Given the description of an element on the screen output the (x, y) to click on. 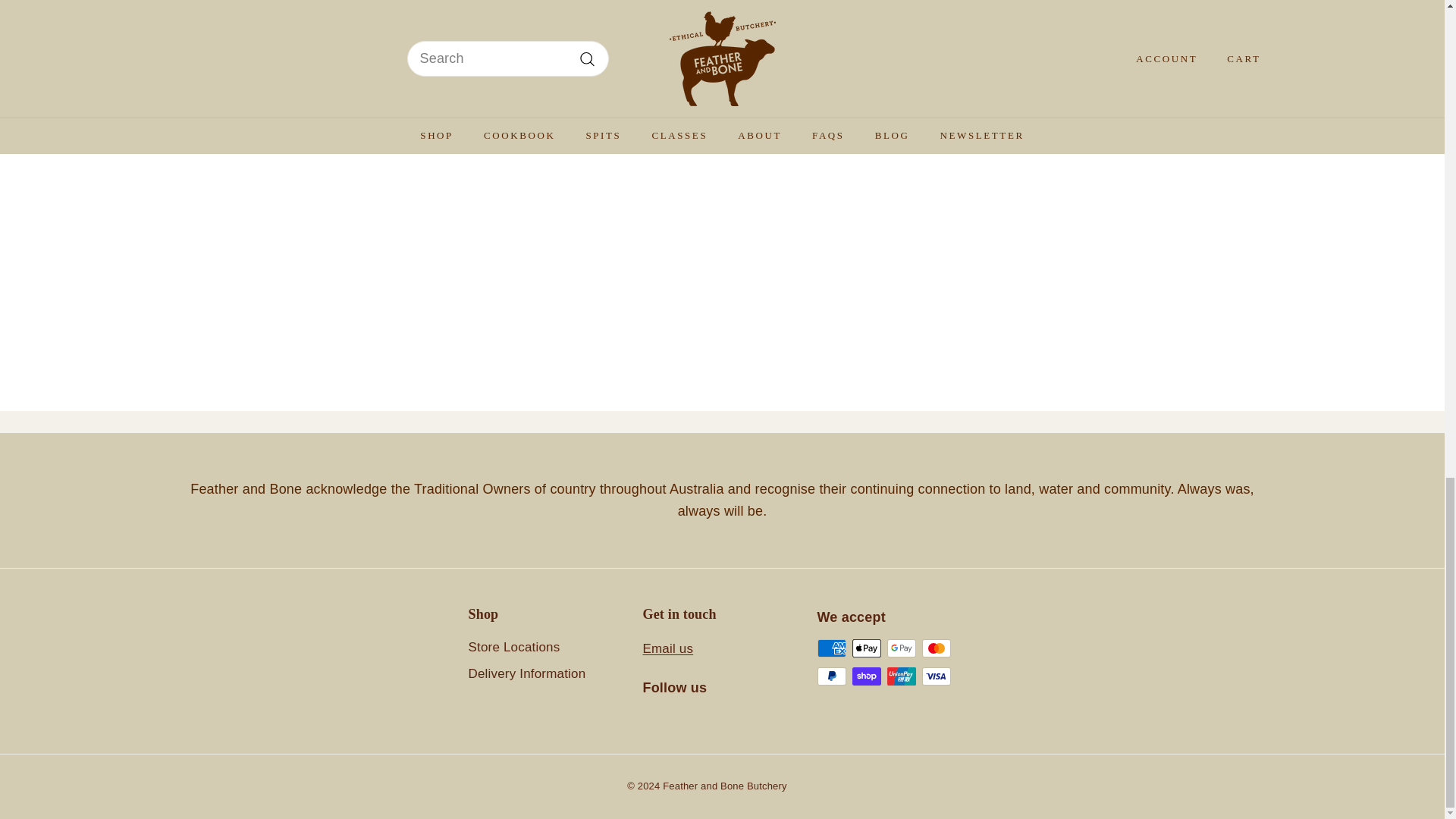
Union Pay (900, 676)
Shop Pay (865, 676)
Google Pay (900, 648)
Mastercard (935, 648)
Apple Pay (865, 648)
PayPal (830, 676)
Visa (935, 676)
American Express (830, 648)
